Given the description of an element on the screen output the (x, y) to click on. 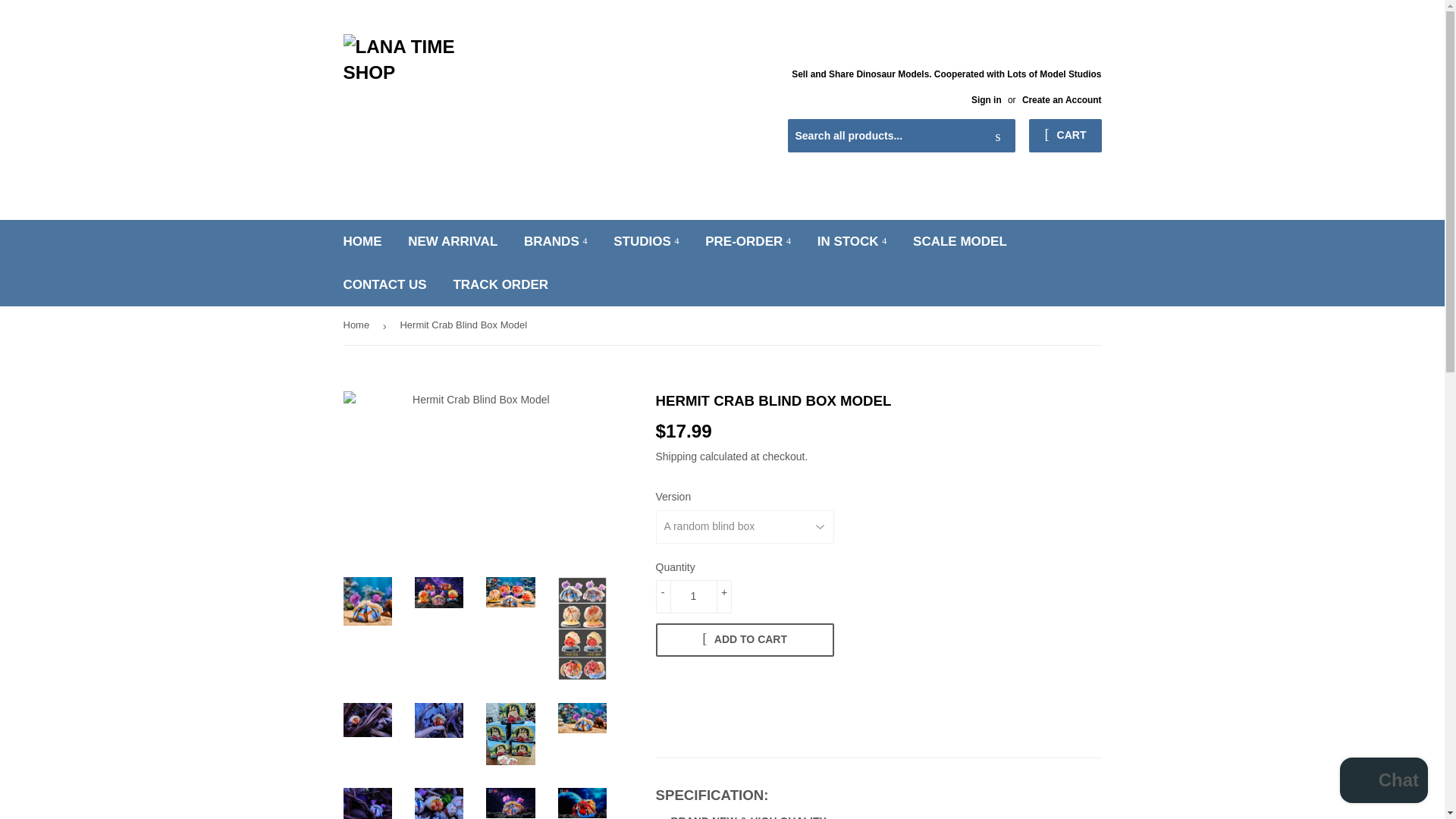
Create an Account (1062, 100)
CART (1064, 135)
1 (692, 596)
Sign in (986, 100)
Shopify online store chat (1383, 781)
Search (997, 136)
